Given the description of an element on the screen output the (x, y) to click on. 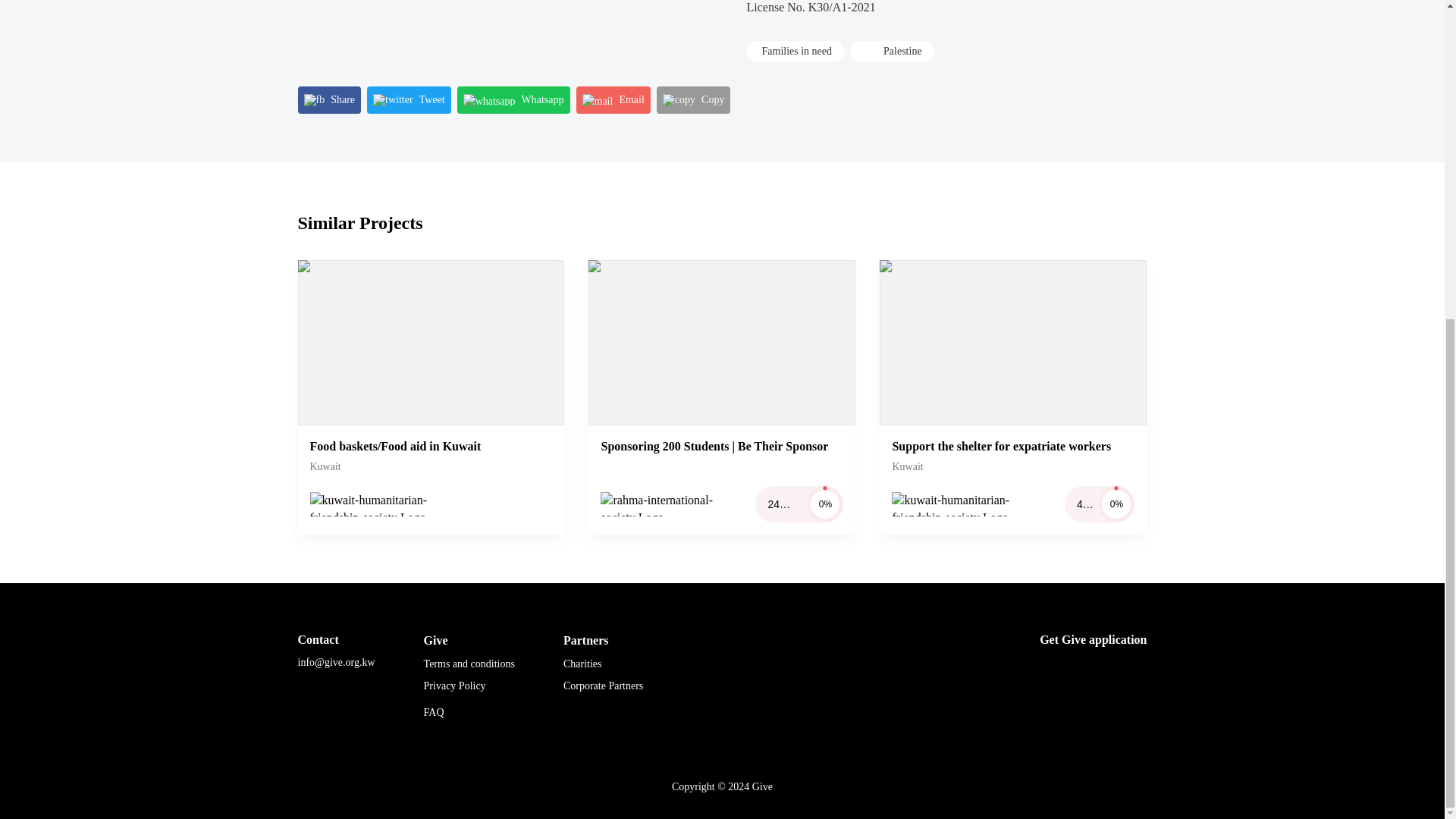
Email (613, 99)
Privacy Policy (454, 685)
Copy (693, 99)
Corporate Partners (603, 685)
FAQ (433, 712)
Whatsapp (513, 99)
Share (329, 99)
Charities (582, 663)
Tweet (408, 99)
Terms and conditions (469, 663)
